Given the description of an element on the screen output the (x, y) to click on. 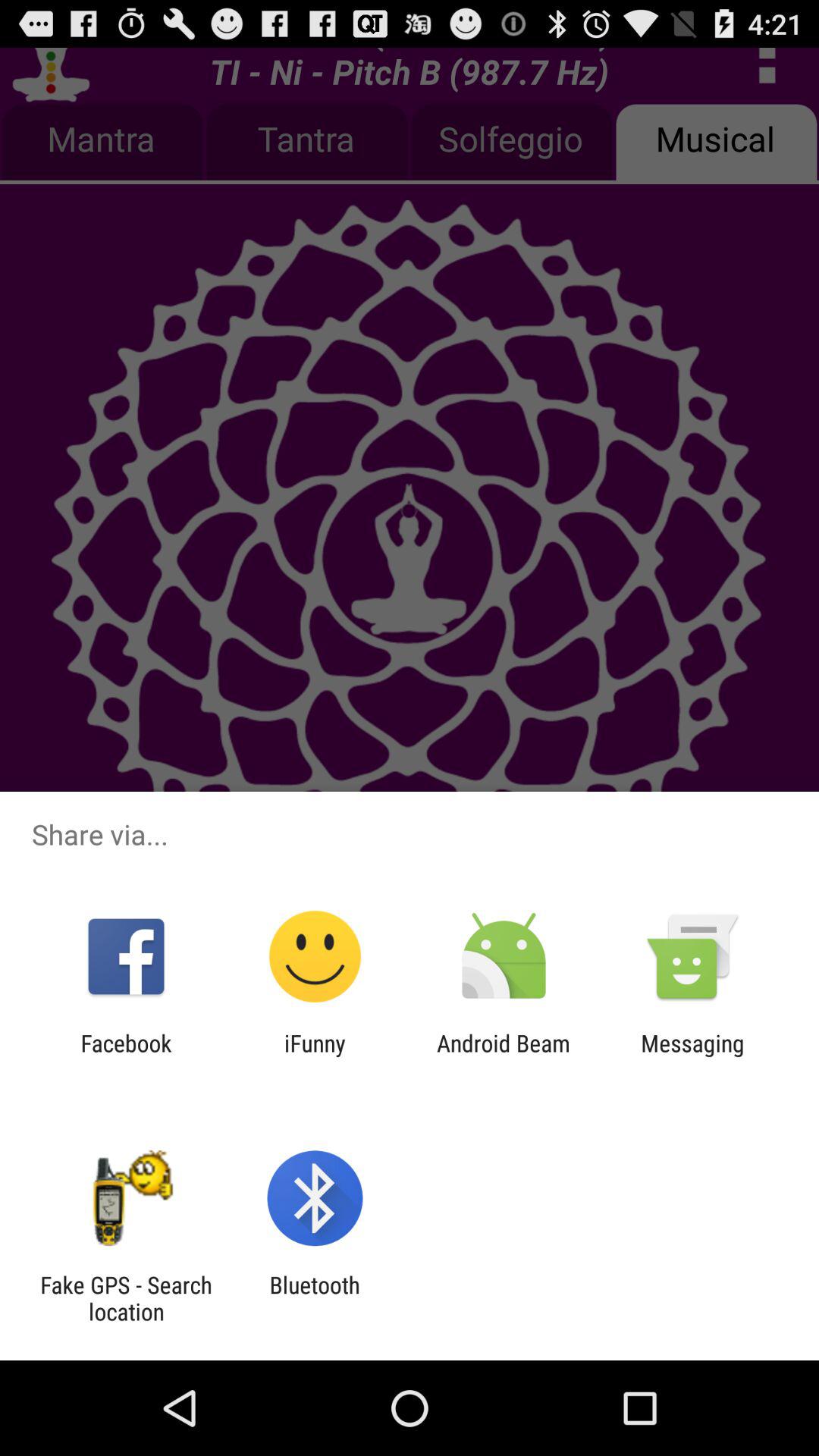
choose the item next to the ifunny item (503, 1056)
